Given the description of an element on the screen output the (x, y) to click on. 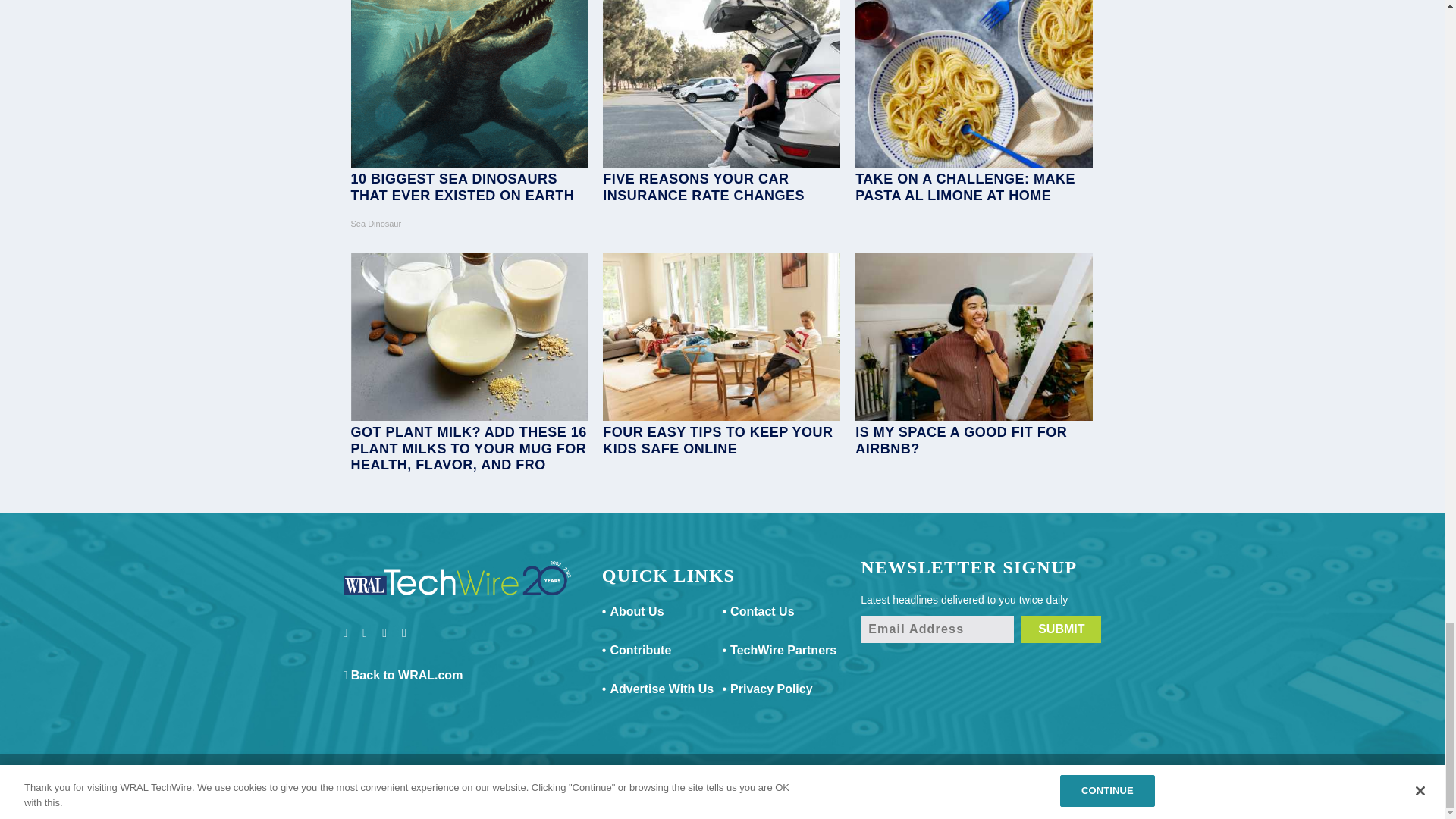
SUBMIT (1061, 628)
